Given the description of an element on the screen output the (x, y) to click on. 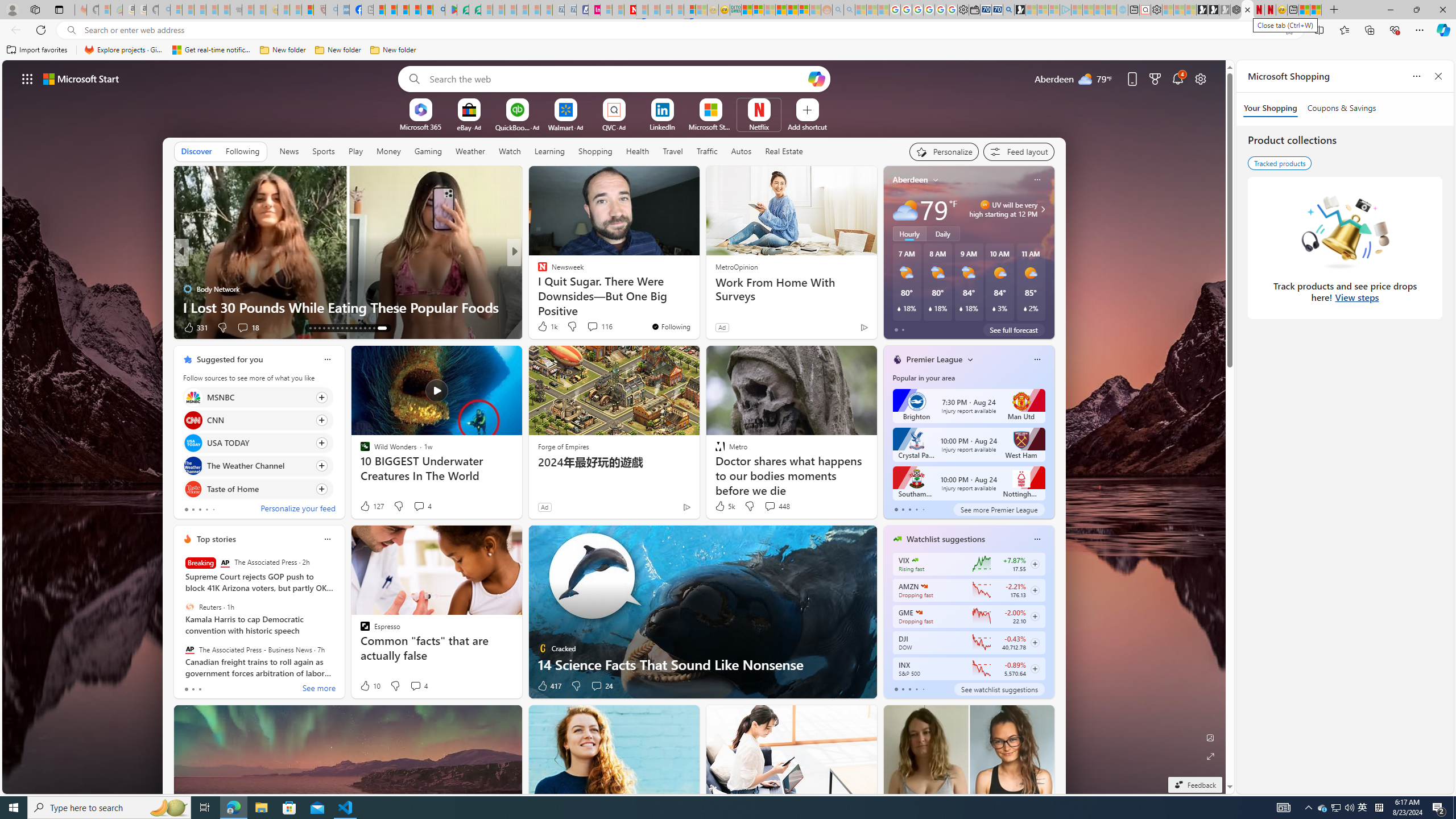
Top stories (215, 538)
CNN (192, 419)
AutomationID: tab-19 (337, 328)
I Lost 30 Pounds While Eating These Popular Foods (347, 307)
AutomationID: tab-25 (364, 328)
View comments 448 Comment (770, 505)
Personalize your feed" (943, 151)
127 Like (370, 505)
